Given the description of an element on the screen output the (x, y) to click on. 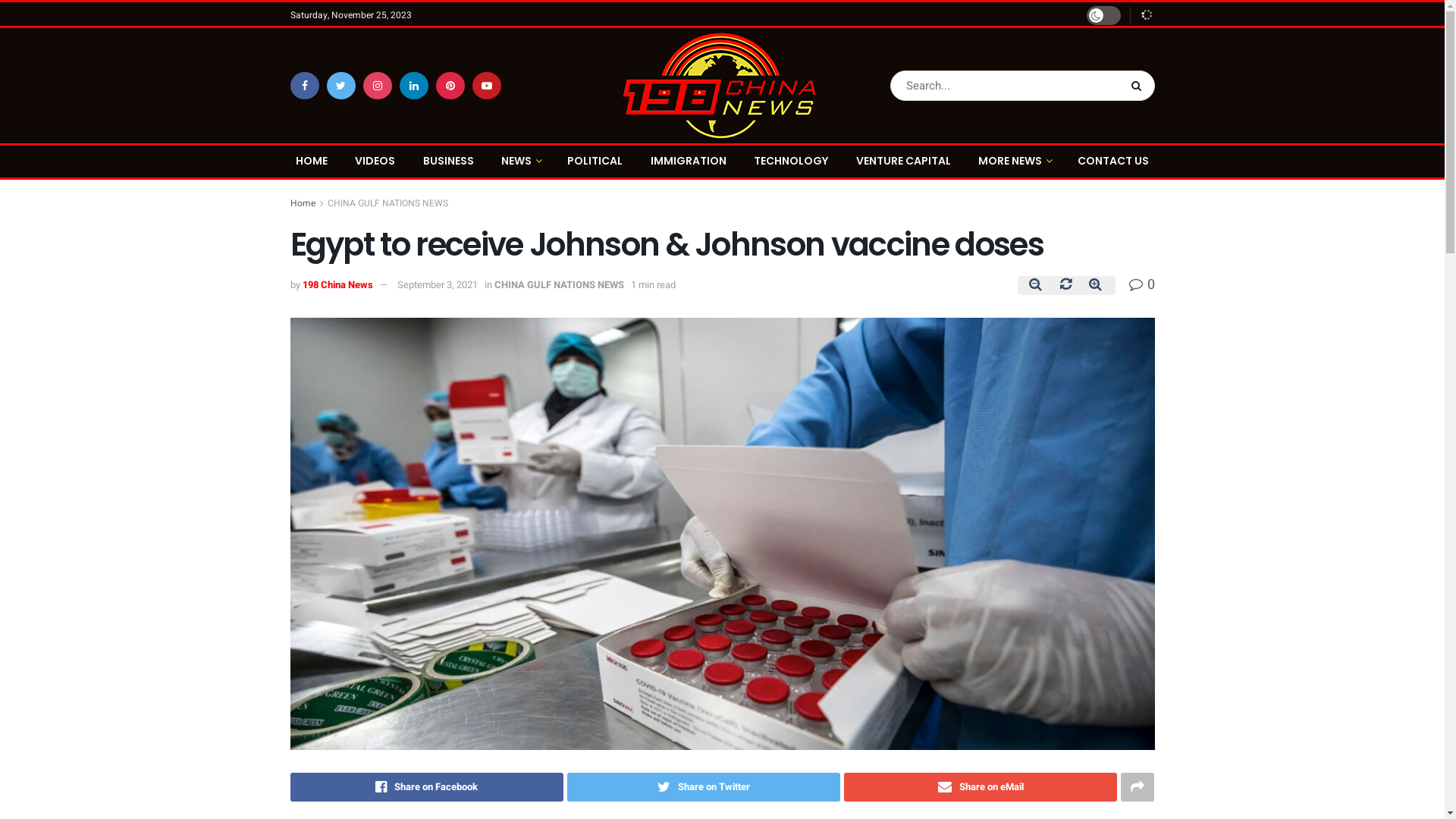
CHINA GULF NATIONS NEWS Element type: text (387, 203)
POLITICAL Element type: text (594, 160)
Share on Facebook Element type: text (425, 786)
VIDEOS Element type: text (374, 160)
Share on eMail Element type: text (980, 786)
September 3, 2021 Element type: text (437, 284)
CHINA GULF NATIONS NEWS Element type: text (559, 284)
CONTACT US Element type: text (1112, 160)
BUSINESS Element type: text (448, 160)
MORE NEWS Element type: text (1014, 160)
TECHNOLOGY Element type: text (790, 160)
HOME Element type: text (311, 160)
198 China News Element type: text (336, 284)
IMMIGRATION Element type: text (688, 160)
0 Element type: text (1141, 284)
VENTURE CAPITAL Element type: text (903, 160)
Home Element type: text (301, 203)
NEWS Element type: text (520, 160)
Share on Twitter Element type: text (703, 786)
